Given the description of an element on the screen output the (x, y) to click on. 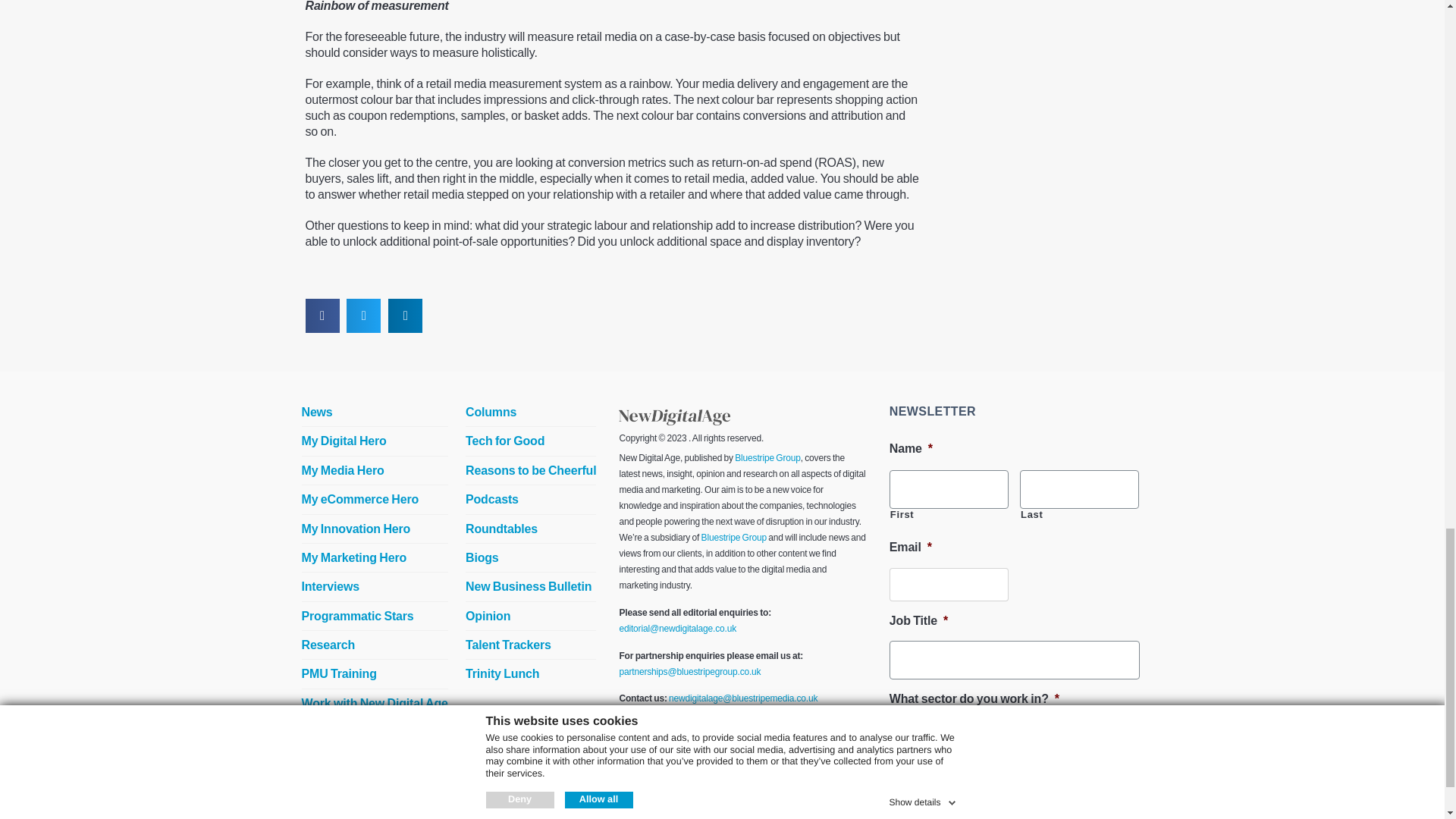
Sign up (927, 788)
